Given the description of an element on the screen output the (x, y) to click on. 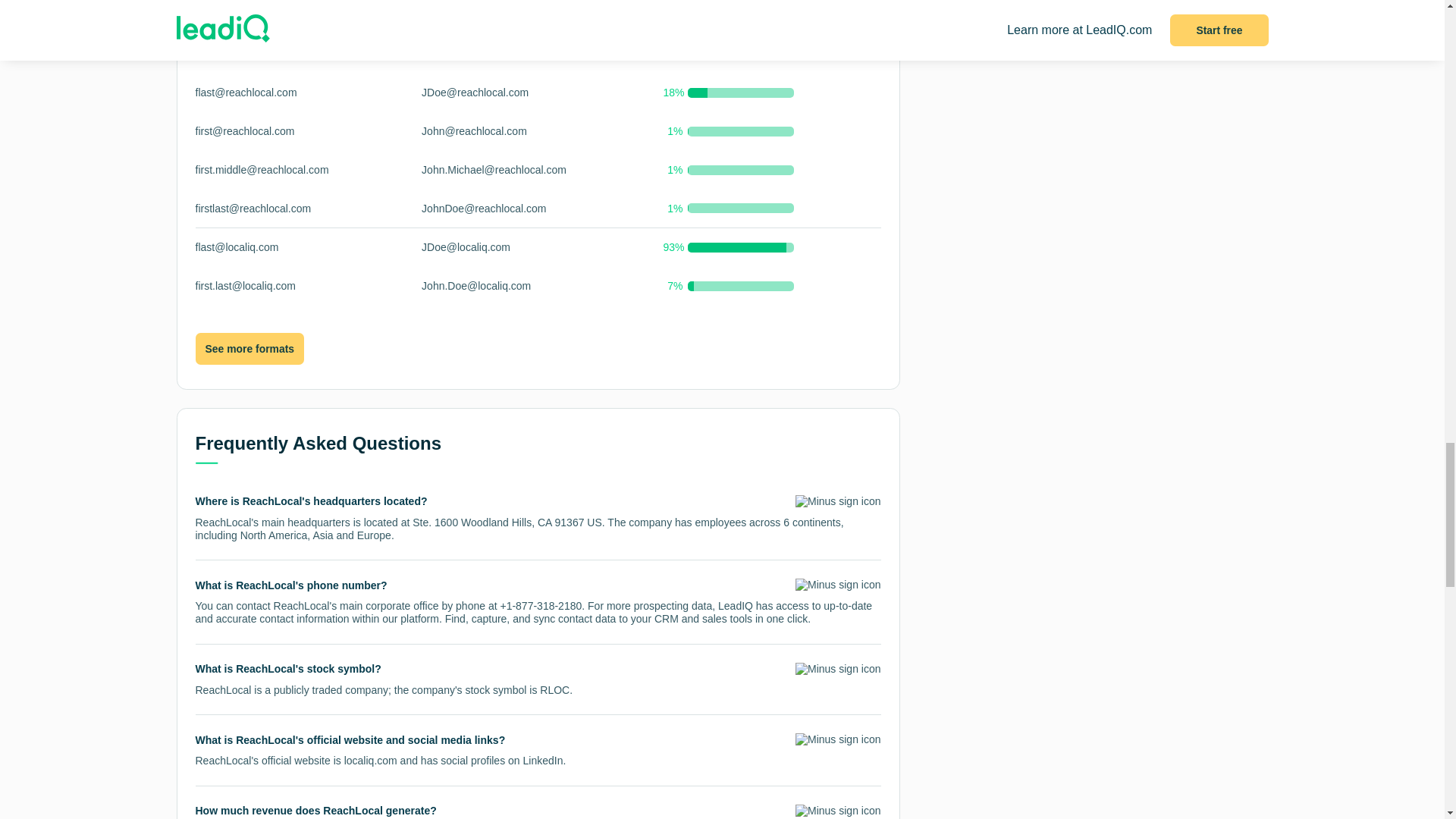
localiq.com (370, 760)
See more formats (249, 348)
See more formats (249, 348)
LinkedIn (542, 760)
